Given the description of an element on the screen output the (x, y) to click on. 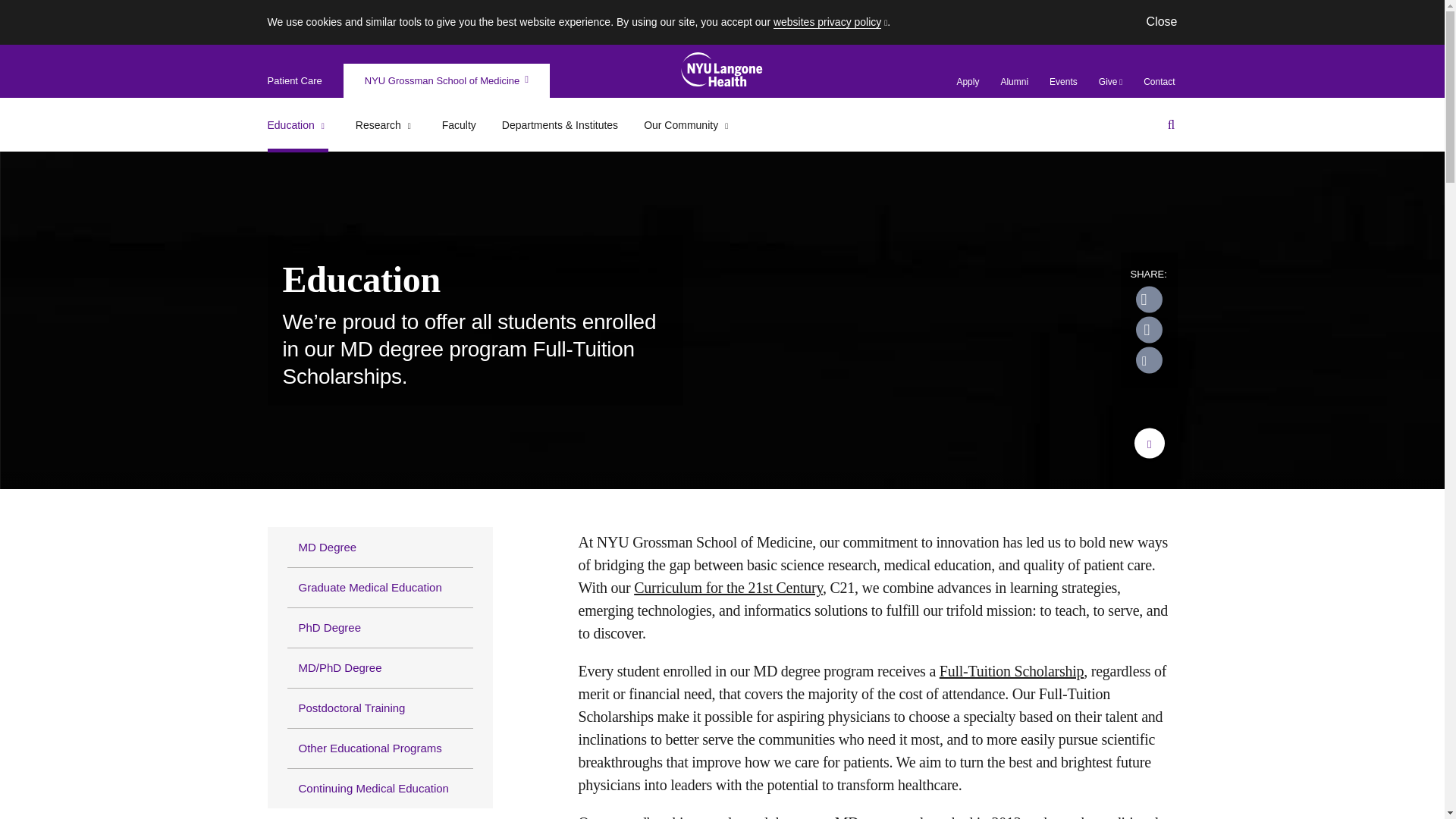
Share by email (1148, 360)
Events (1063, 81)
Contact (1158, 81)
Share through facebook (1148, 329)
Education (297, 125)
Share through twitter (1148, 299)
Patient Care (294, 80)
Give (1110, 81)
Close (1162, 21)
NYU Grossman School of Medicine (446, 80)
Apply (967, 81)
websites privacy policy . (831, 21)
Alumni (1013, 81)
